Given the description of an element on the screen output the (x, y) to click on. 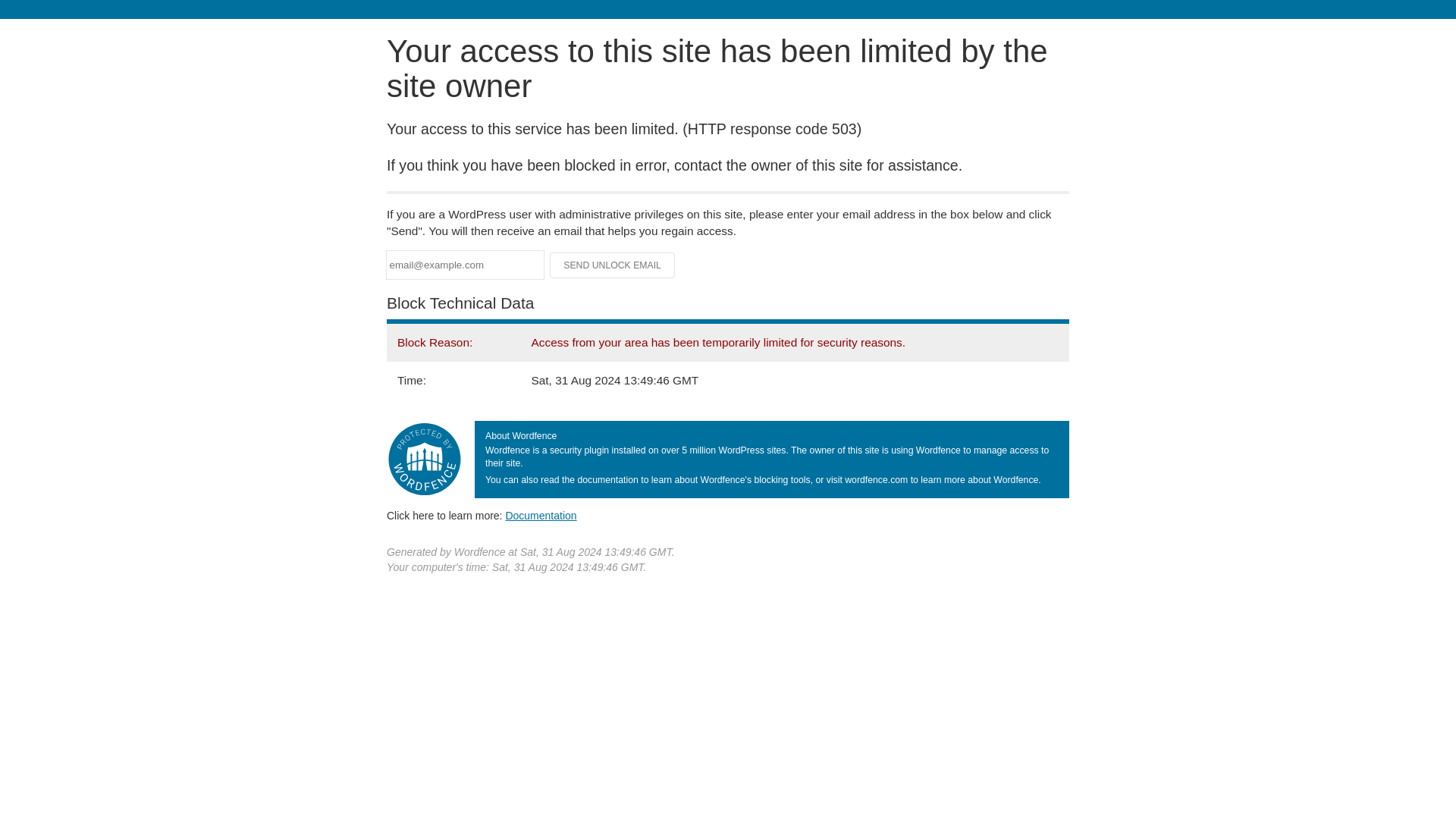
Send Unlock Email (612, 265)
Send Unlock Email (612, 265)
Documentation (540, 515)
